Given the description of an element on the screen output the (x, y) to click on. 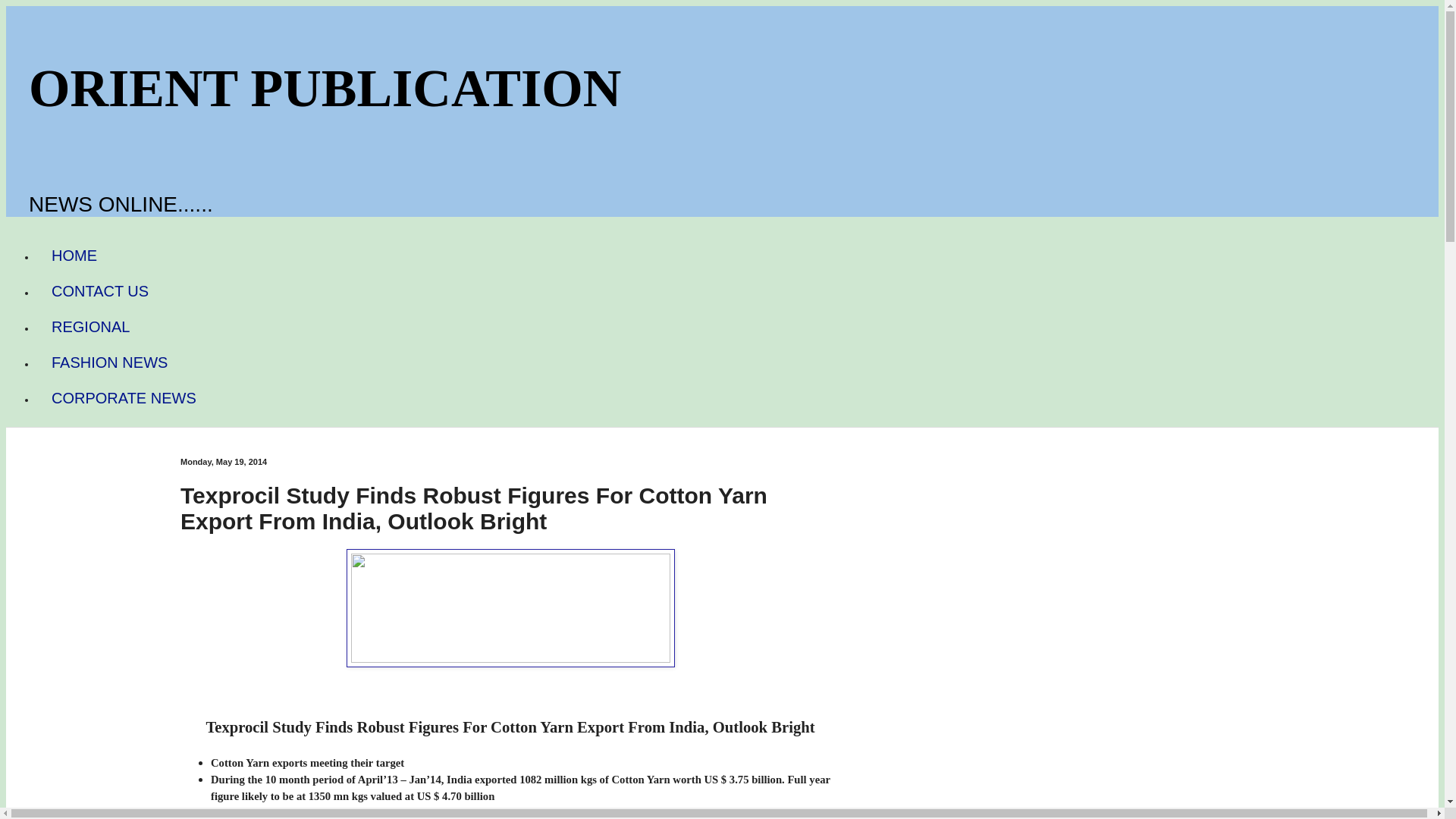
FASHION NEWS (109, 362)
ORIENT PUBLICATION (325, 87)
HOME (74, 255)
CORPORATE NEWS (123, 398)
CONTACT US (99, 291)
REGIONAL (90, 326)
